Given the description of an element on the screen output the (x, y) to click on. 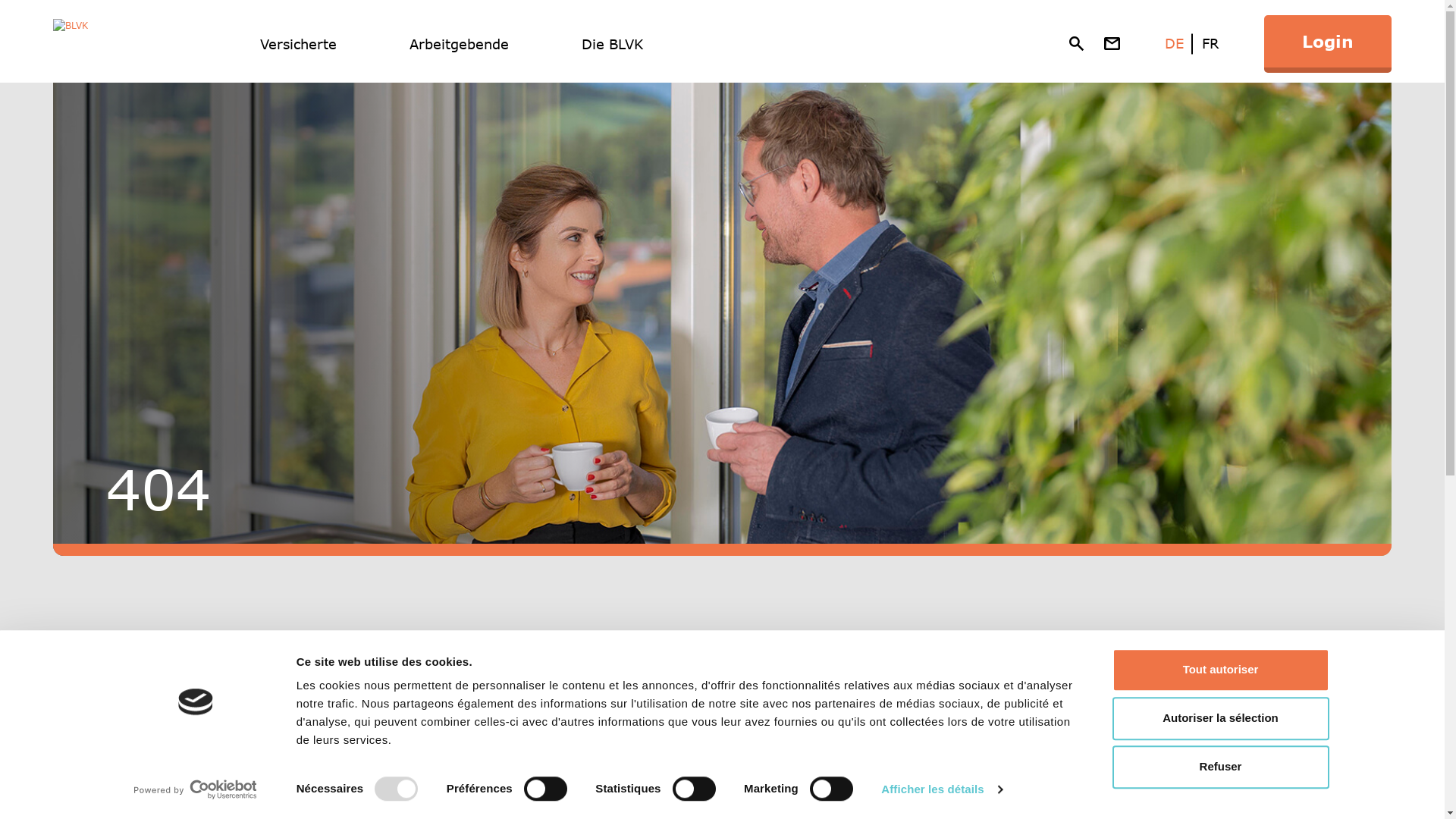
DE Element type: text (1173, 42)
FR Element type: text (1210, 42)
Versicherte Element type: text (298, 43)
Login Element type: text (1327, 44)
Tout autoriser Element type: text (1219, 669)
Arbeitgebende Element type: text (458, 43)
Die BLVK Element type: text (612, 43)
search Element type: text (1075, 43)
mail Element type: text (1111, 43)
Refuser Element type: text (1219, 766)
